Given the description of an element on the screen output the (x, y) to click on. 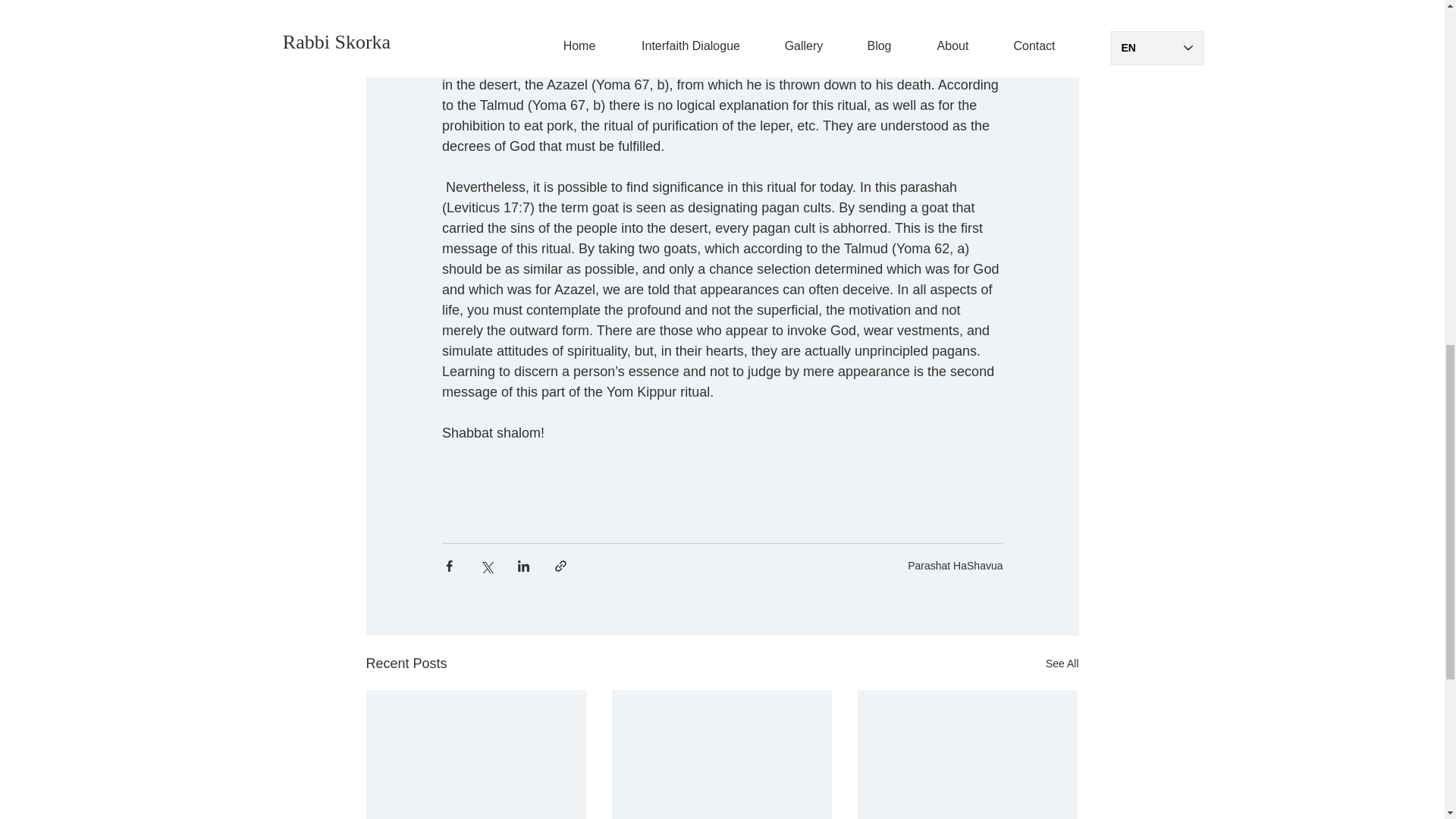
See All (1061, 663)
Parashat HaShavua (955, 565)
